Given the description of an element on the screen output the (x, y) to click on. 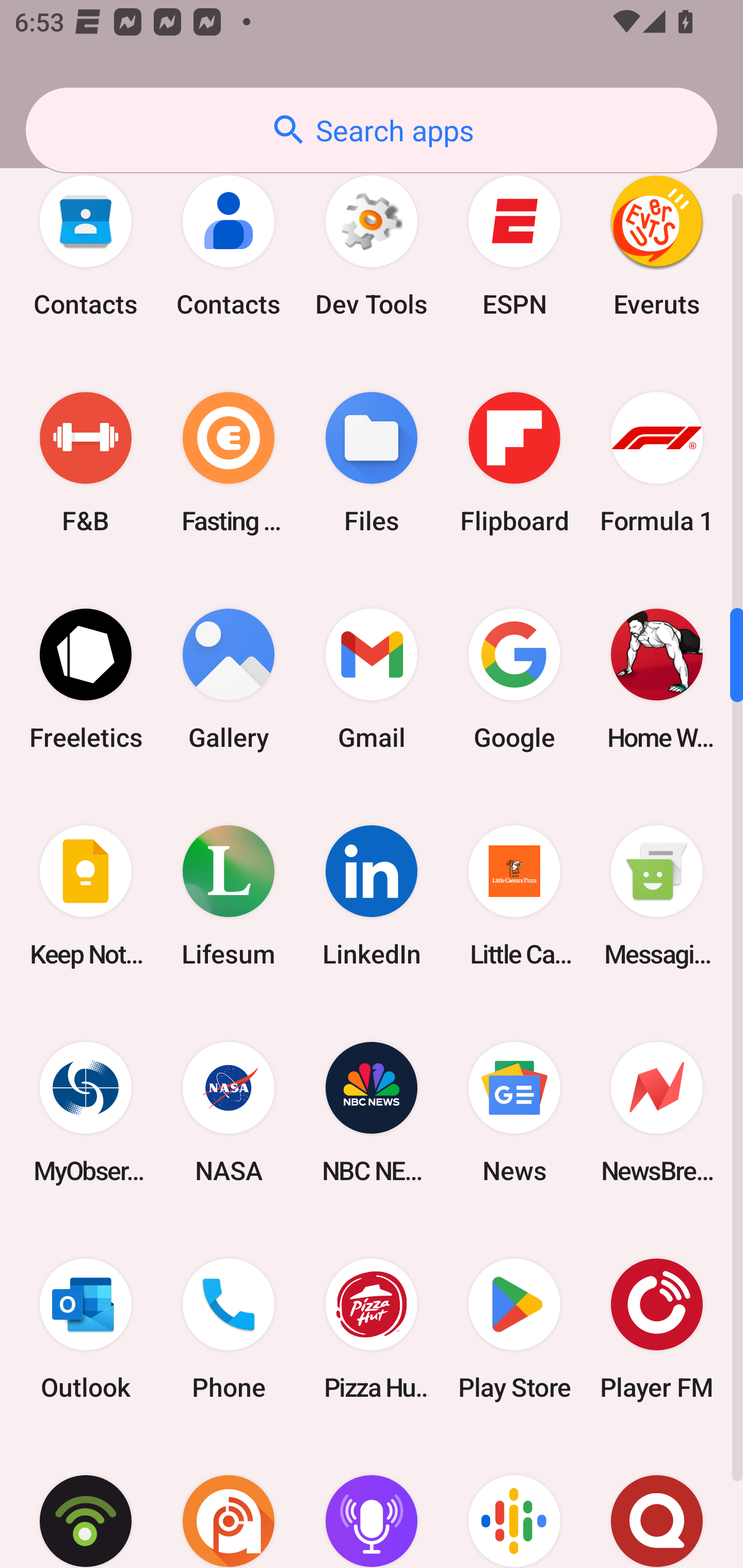
  Search apps (371, 130)
Contacts (85, 245)
Contacts (228, 245)
Dev Tools (371, 245)
ESPN (514, 245)
Everuts (656, 245)
F&B (85, 462)
Fasting Coach (228, 462)
Files (371, 462)
Flipboard (514, 462)
Formula 1 (656, 462)
Freeletics (85, 678)
Gallery (228, 678)
Gmail (371, 678)
Google (514, 678)
Home Workout (656, 678)
Keep Notes (85, 895)
Lifesum (228, 895)
LinkedIn (371, 895)
Little Caesars Pizza (514, 895)
Messaging (656, 895)
MyObservatory (85, 1112)
NASA (228, 1112)
NBC NEWS (371, 1112)
News (514, 1112)
NewsBreak (656, 1112)
Outlook (85, 1329)
Phone (228, 1329)
Pizza Hut HK & Macau (371, 1329)
Play Store (514, 1329)
Player FM (656, 1329)
Podbean (85, 1502)
Podcast Addict (228, 1502)
Podcast Player (371, 1502)
Podcasts (514, 1502)
Quora (656, 1502)
